Given the description of an element on the screen output the (x, y) to click on. 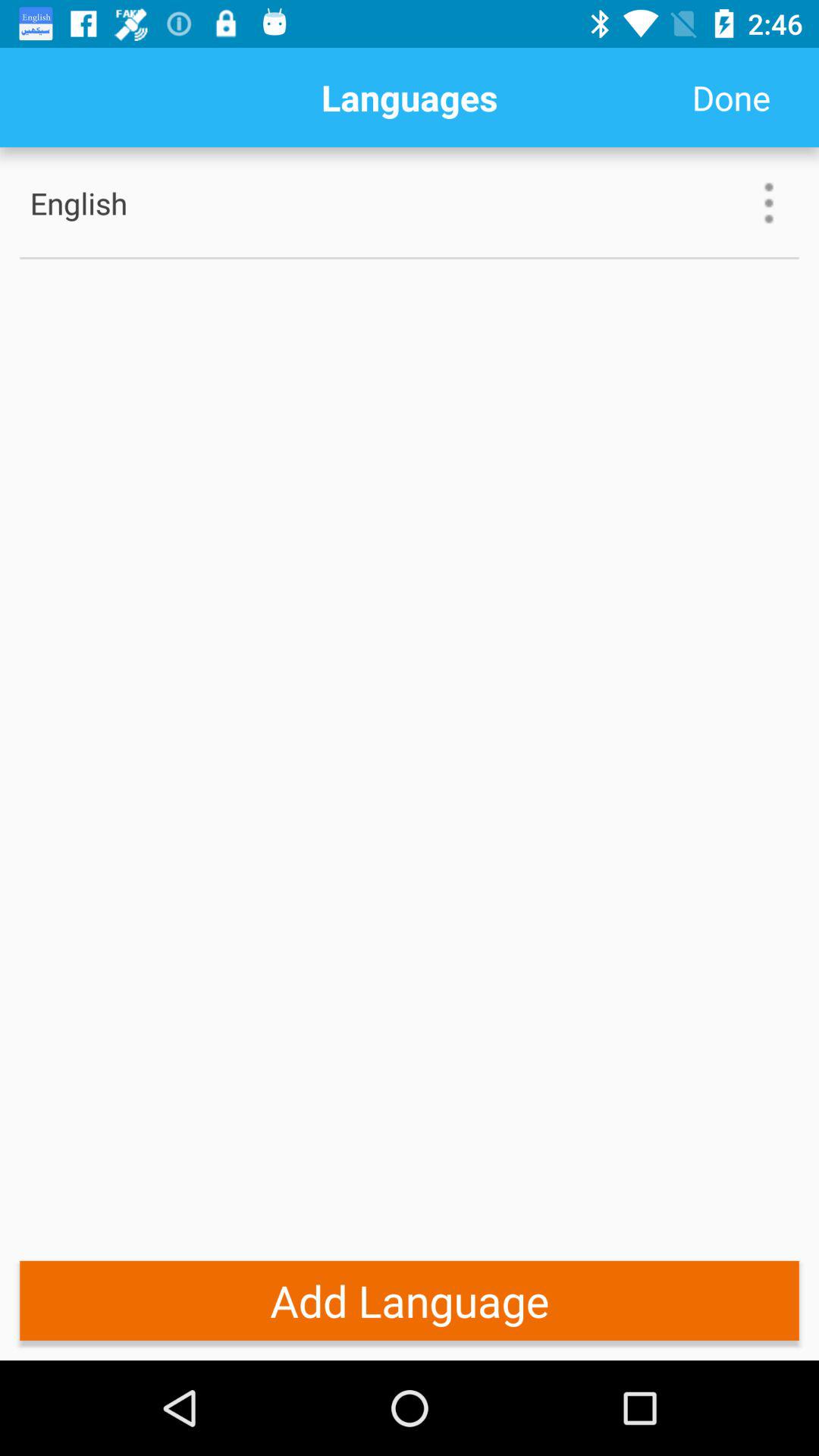
select the english at the top left corner (128, 203)
